Given the description of an element on the screen output the (x, y) to click on. 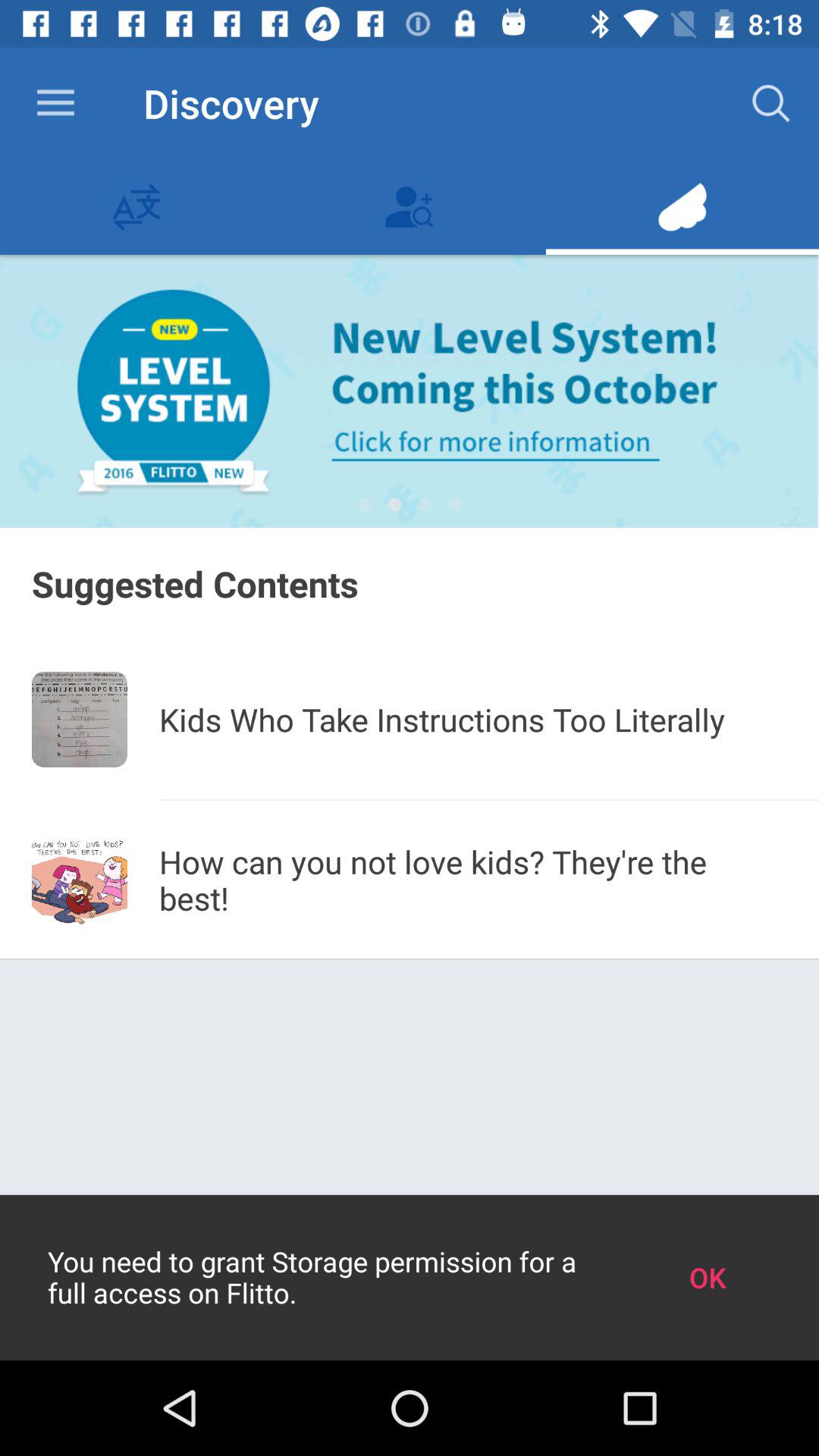
turn on the item at the bottom right corner (707, 1277)
